Given the description of an element on the screen output the (x, y) to click on. 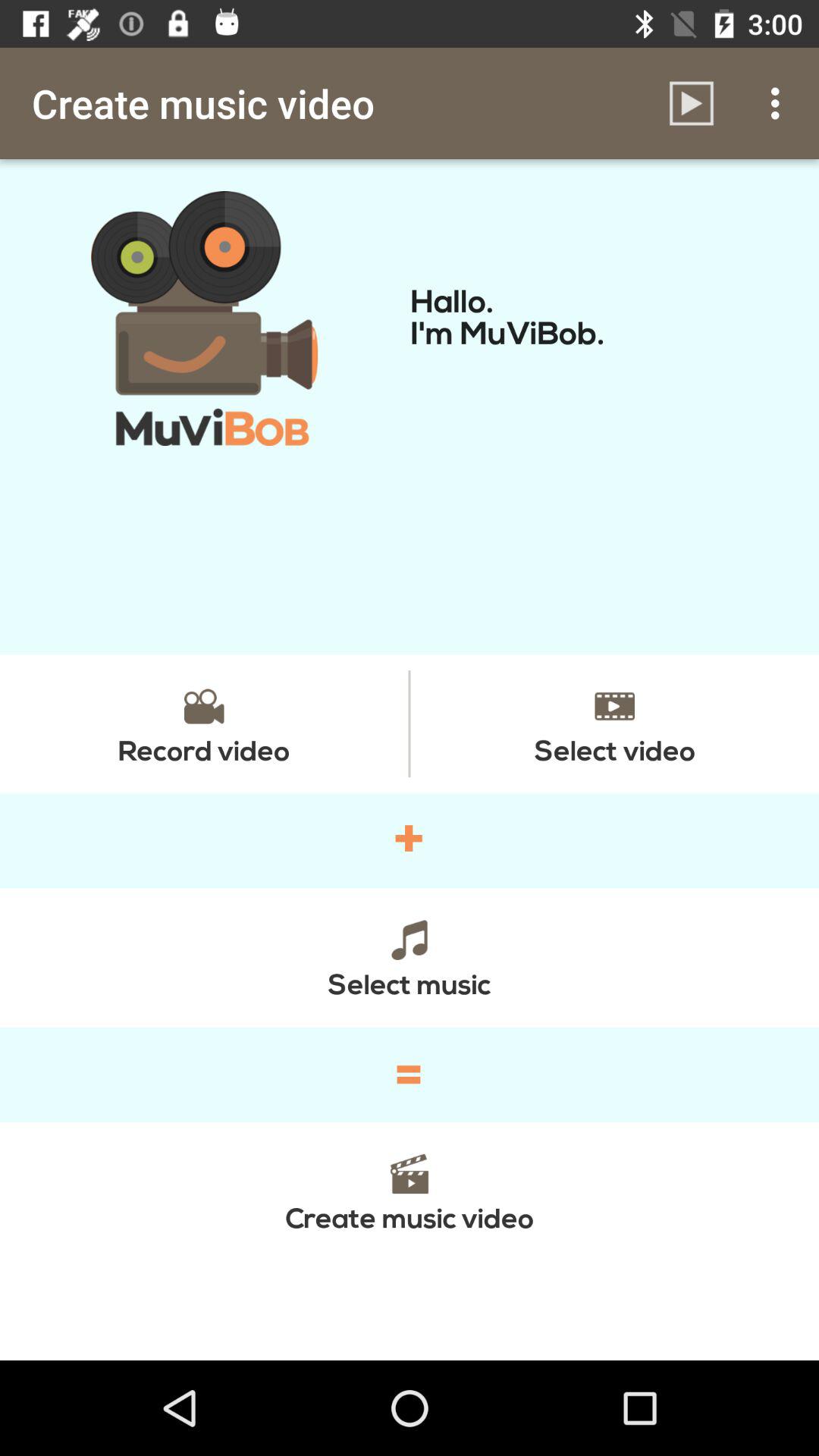
launch item above hallo i m item (779, 103)
